Given the description of an element on the screen output the (x, y) to click on. 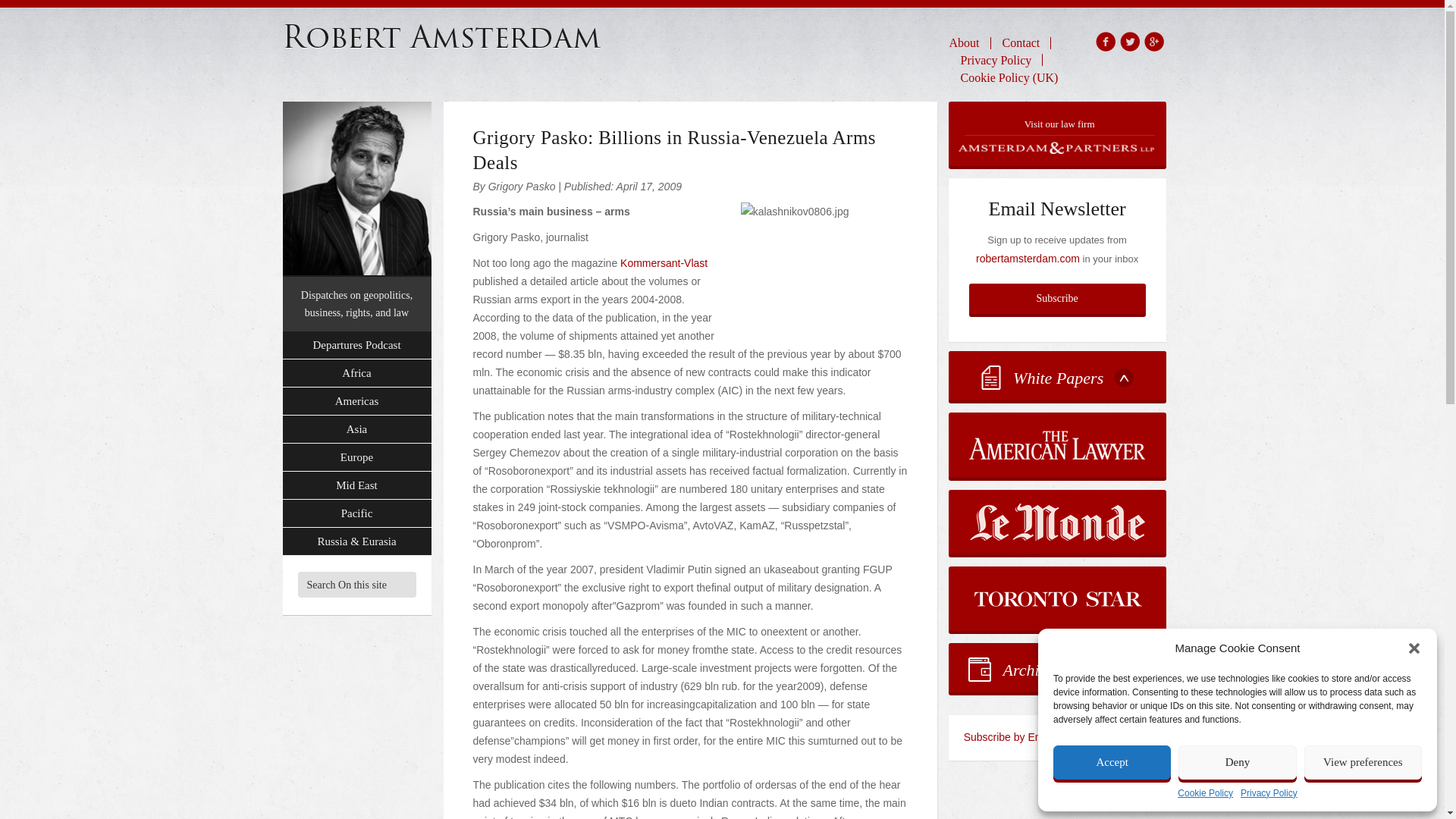
Privacy Policy (996, 59)
View preferences (1363, 762)
Accept (1111, 762)
Grigory Pasko: Billions in Russia-Venezuela Arms Deals (674, 149)
Departures Podcast (356, 345)
About (970, 42)
Asia (356, 429)
Americas (356, 401)
Cookie Policy (1205, 793)
Mid East (356, 485)
Pacific (356, 513)
Contact (1021, 42)
Privacy Policy (1268, 793)
Africa (356, 373)
Kommersant-Vlast (663, 263)
